Given the description of an element on the screen output the (x, y) to click on. 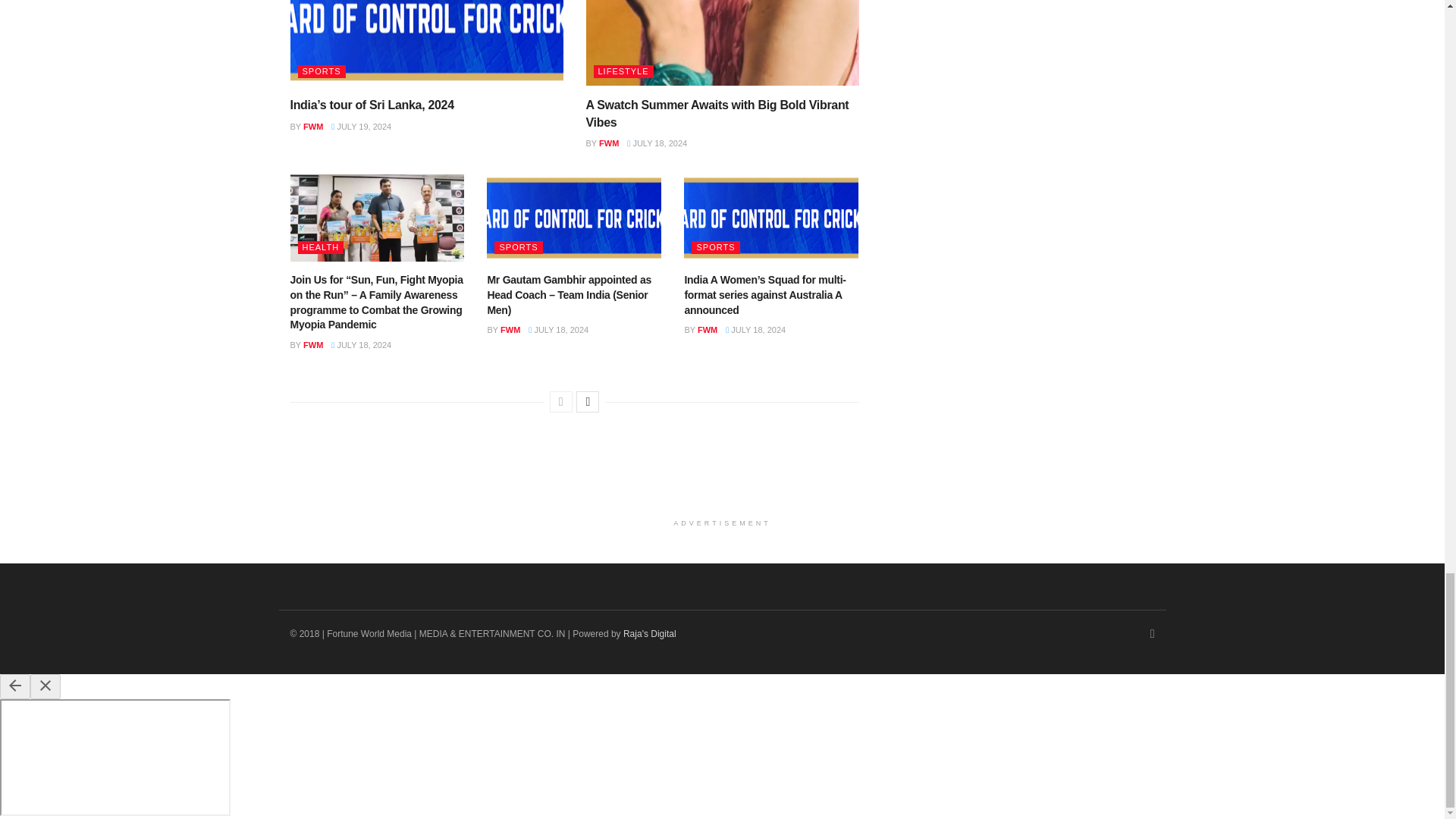
Next (587, 401)
Previous (561, 401)
